Given the description of an element on the screen output the (x, y) to click on. 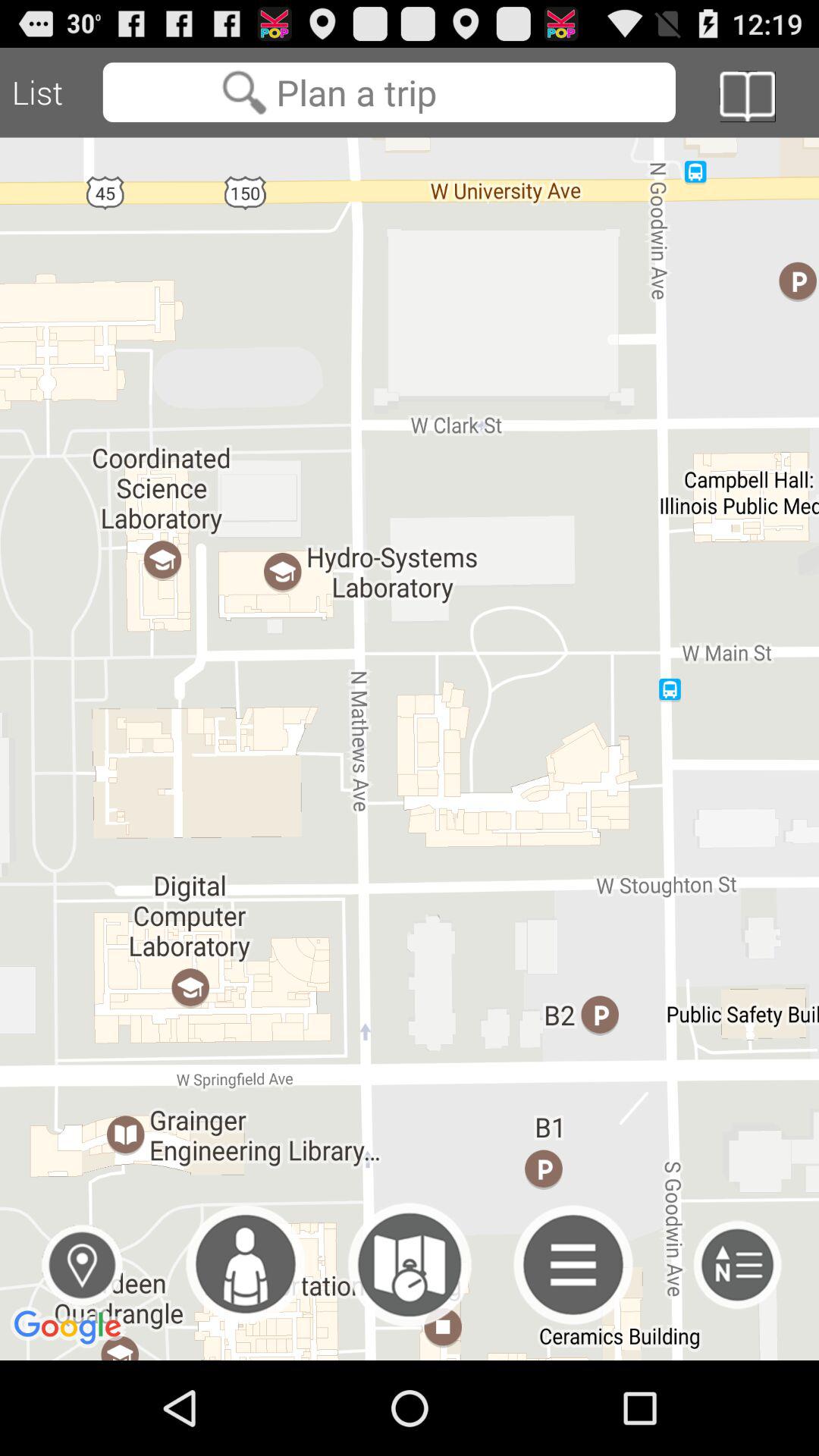
select the list icon (51, 92)
